Given the description of an element on the screen output the (x, y) to click on. 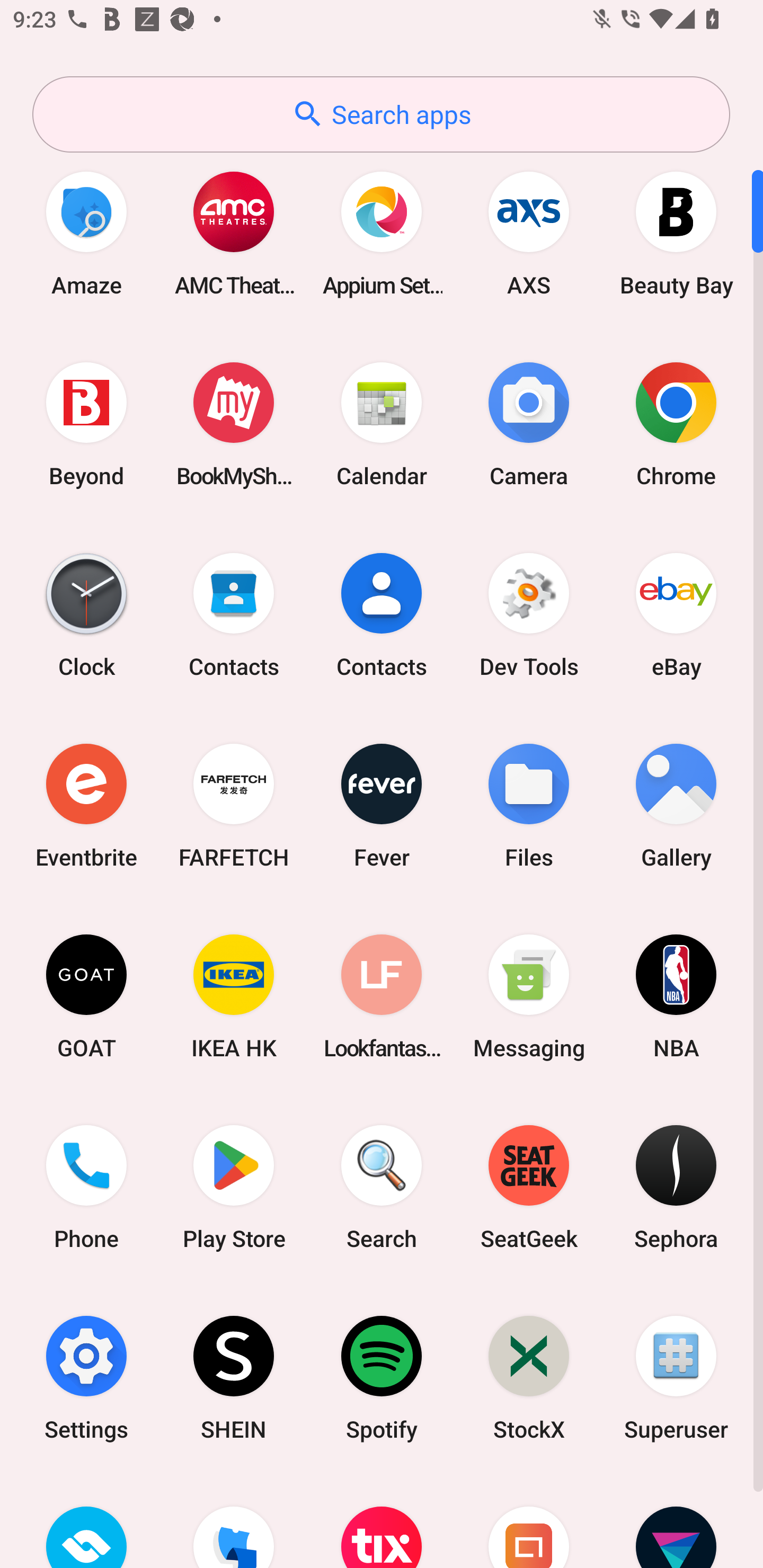
  Search apps (381, 114)
Amaze (86, 233)
AMC Theatres (233, 233)
Appium Settings (381, 233)
AXS (528, 233)
Beauty Bay (676, 233)
Beyond (86, 424)
BookMyShow (233, 424)
Calendar (381, 424)
Camera (528, 424)
Chrome (676, 424)
Clock (86, 614)
Contacts (233, 614)
Contacts (381, 614)
Dev Tools (528, 614)
eBay (676, 614)
Eventbrite (86, 805)
FARFETCH (233, 805)
Fever (381, 805)
Files (528, 805)
Gallery (676, 805)
GOAT (86, 996)
IKEA HK (233, 996)
Lookfantastic (381, 996)
Messaging (528, 996)
NBA (676, 996)
Phone (86, 1186)
Play Store (233, 1186)
Search (381, 1186)
SeatGeek (528, 1186)
Sephora (676, 1186)
Settings (86, 1377)
SHEIN (233, 1377)
Spotify (381, 1377)
StockX (528, 1377)
Superuser (676, 1377)
TicketSwap (86, 1520)
TickPick (233, 1520)
TodayTix (381, 1520)
Urban Ladder (528, 1520)
Vivid Seats (676, 1520)
